Given the description of an element on the screen output the (x, y) to click on. 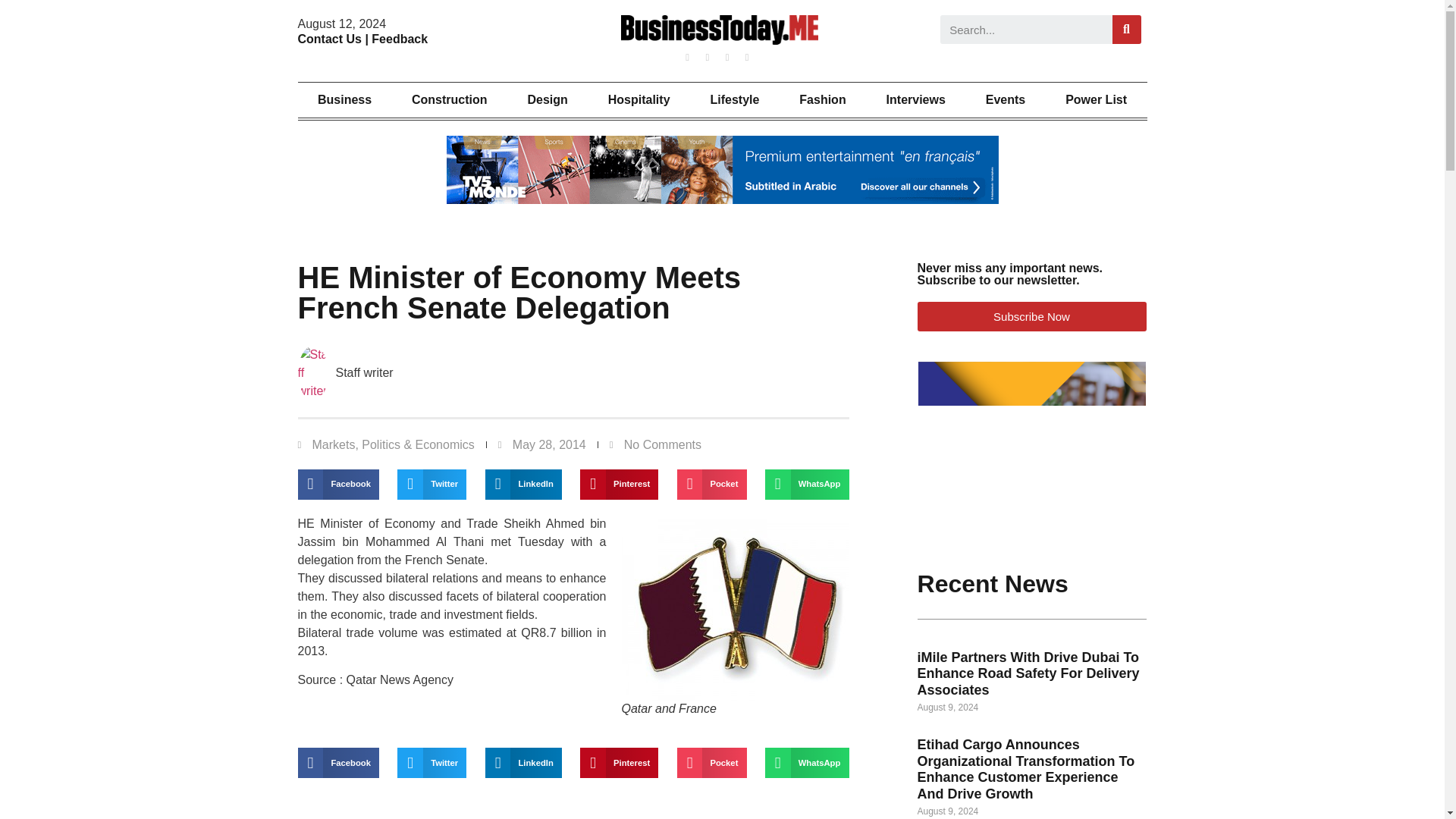
Feedback (399, 38)
fluidmeet (1031, 456)
Search (1126, 29)
Contact Us (329, 38)
Search (1026, 29)
